Given the description of an element on the screen output the (x, y) to click on. 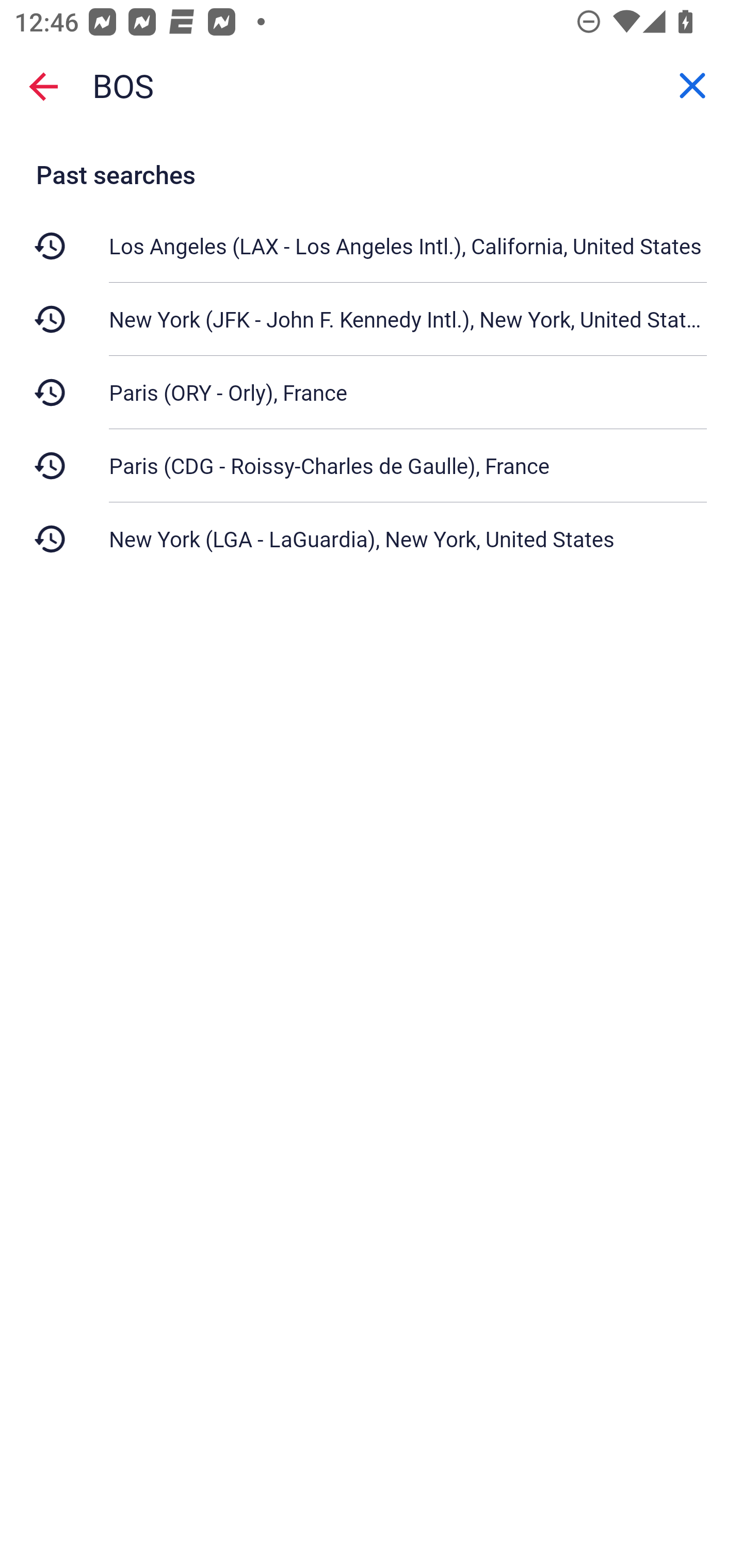
Clear Pick-up (692, 85)
Pick-up, BOS (371, 85)
Close search screen (43, 86)
